Given the description of an element on the screen output the (x, y) to click on. 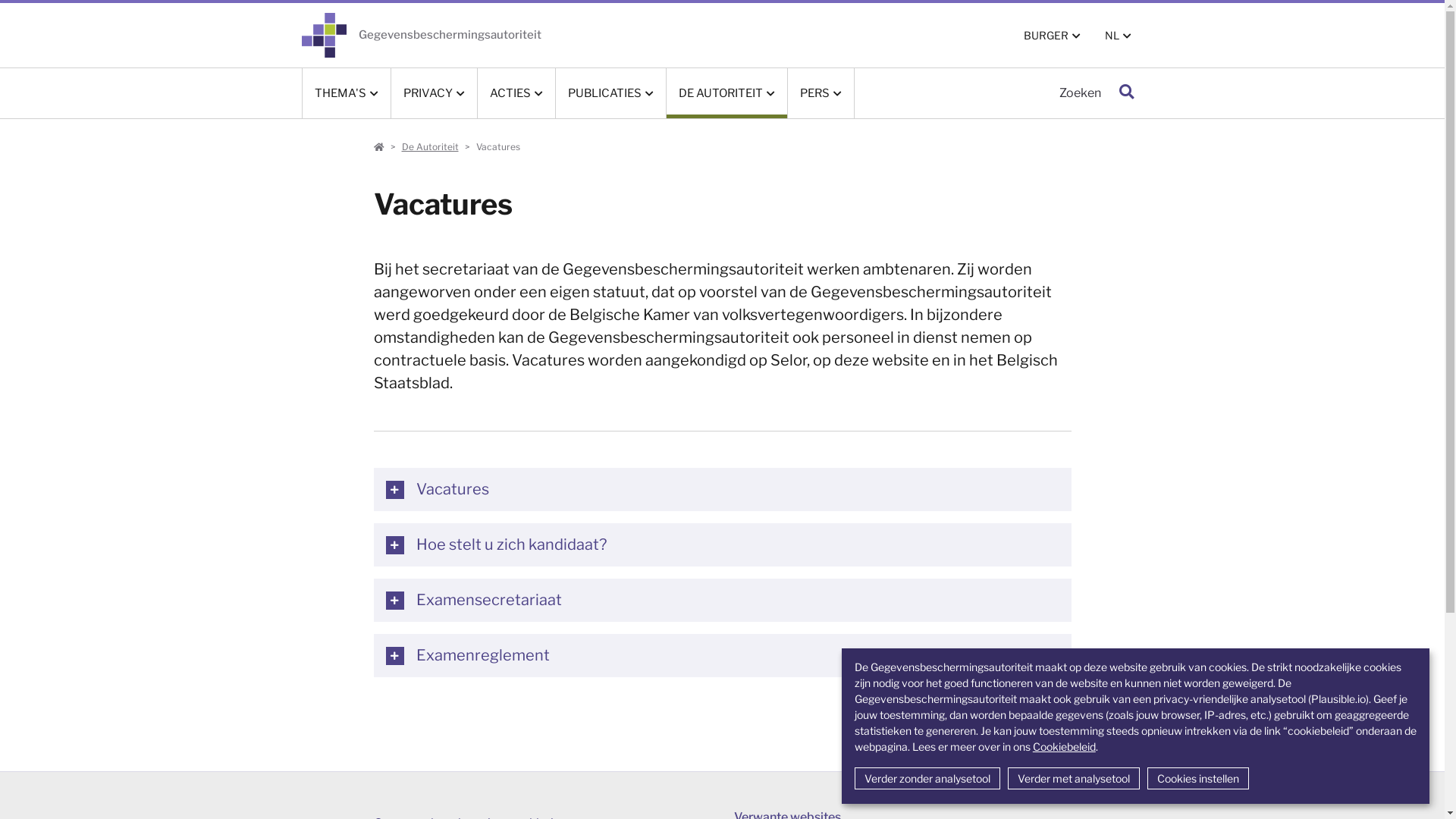
ACTIES Element type: text (516, 93)
THEMA'S Element type: text (345, 93)
Gegevensbeschermingsautoriteit Element type: text (421, 35)
Vacatures Element type: text (721, 489)
PUBLICATIES Element type: text (610, 93)
BURGER Element type: text (1051, 35)
Verder met analysetool Element type: text (1073, 778)
Verder zonder analysetool Element type: text (927, 778)
Burger Element type: text (378, 146)
NL Element type: text (1117, 35)
DE AUTORITEIT Element type: text (725, 93)
Hoe stelt u zich kandidaat? Element type: text (721, 544)
Examenreglement Element type: text (721, 655)
Cookies instellen Element type: text (1197, 778)
Cookiebeleid Element type: text (1063, 746)
PERS Element type: text (820, 93)
Examensecretariaat Element type: text (721, 599)
Zoeken Element type: text (1125, 92)
De Autoriteit Element type: text (429, 146)
PRIVACY Element type: text (433, 93)
